Given the description of an element on the screen output the (x, y) to click on. 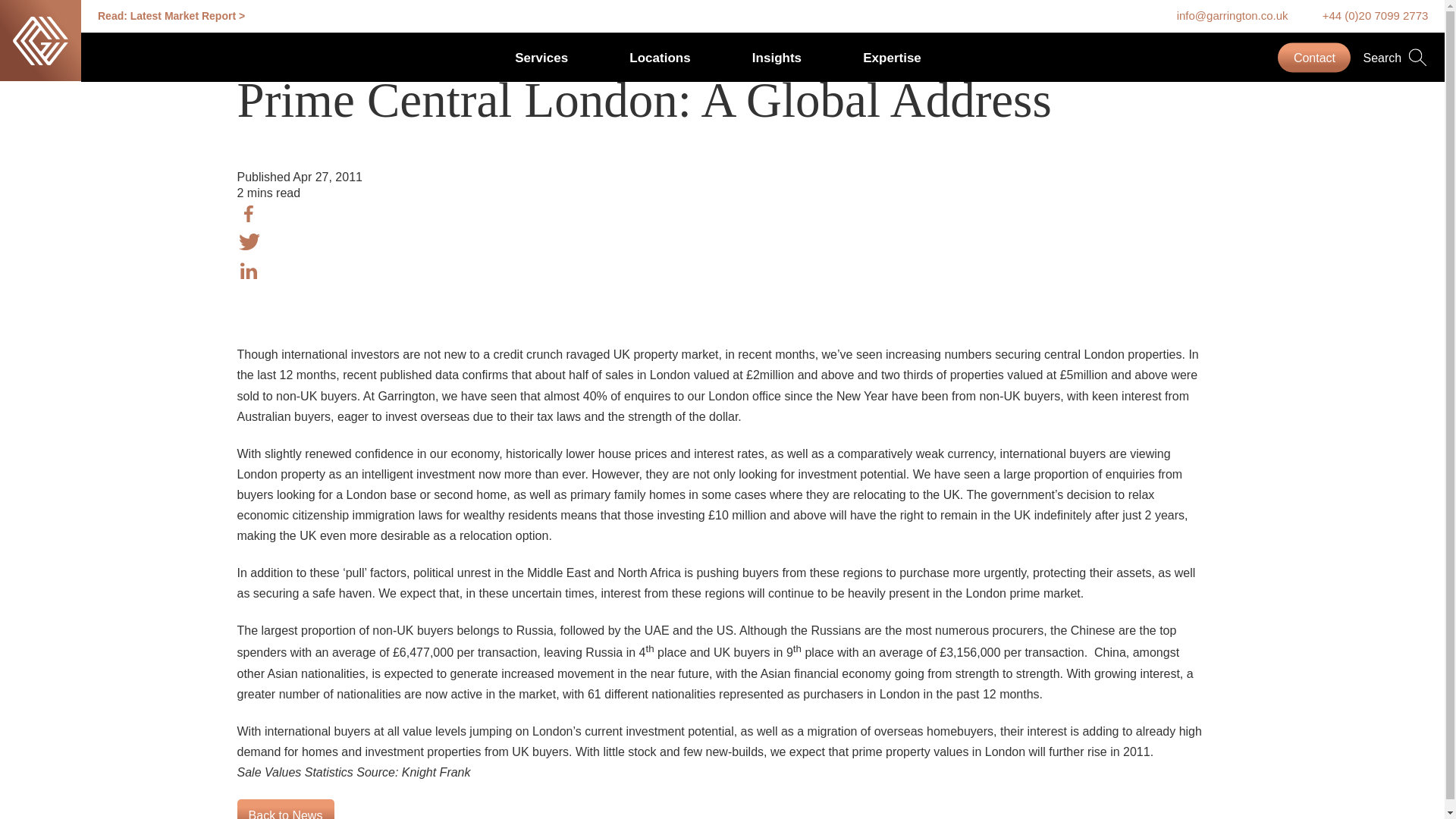
Share post via Email (247, 327)
Follow Garrington on Twitter (1023, 592)
Share post via Facebook (247, 213)
Find Garrington on LinkedIn (960, 592)
Locations (659, 57)
Services (541, 57)
Share post via Twitter (247, 242)
Find Garrington on Instagram (991, 592)
Garrington on Youtube (1054, 592)
Share post via WhatsApp (247, 299)
